Given the description of an element on the screen output the (x, y) to click on. 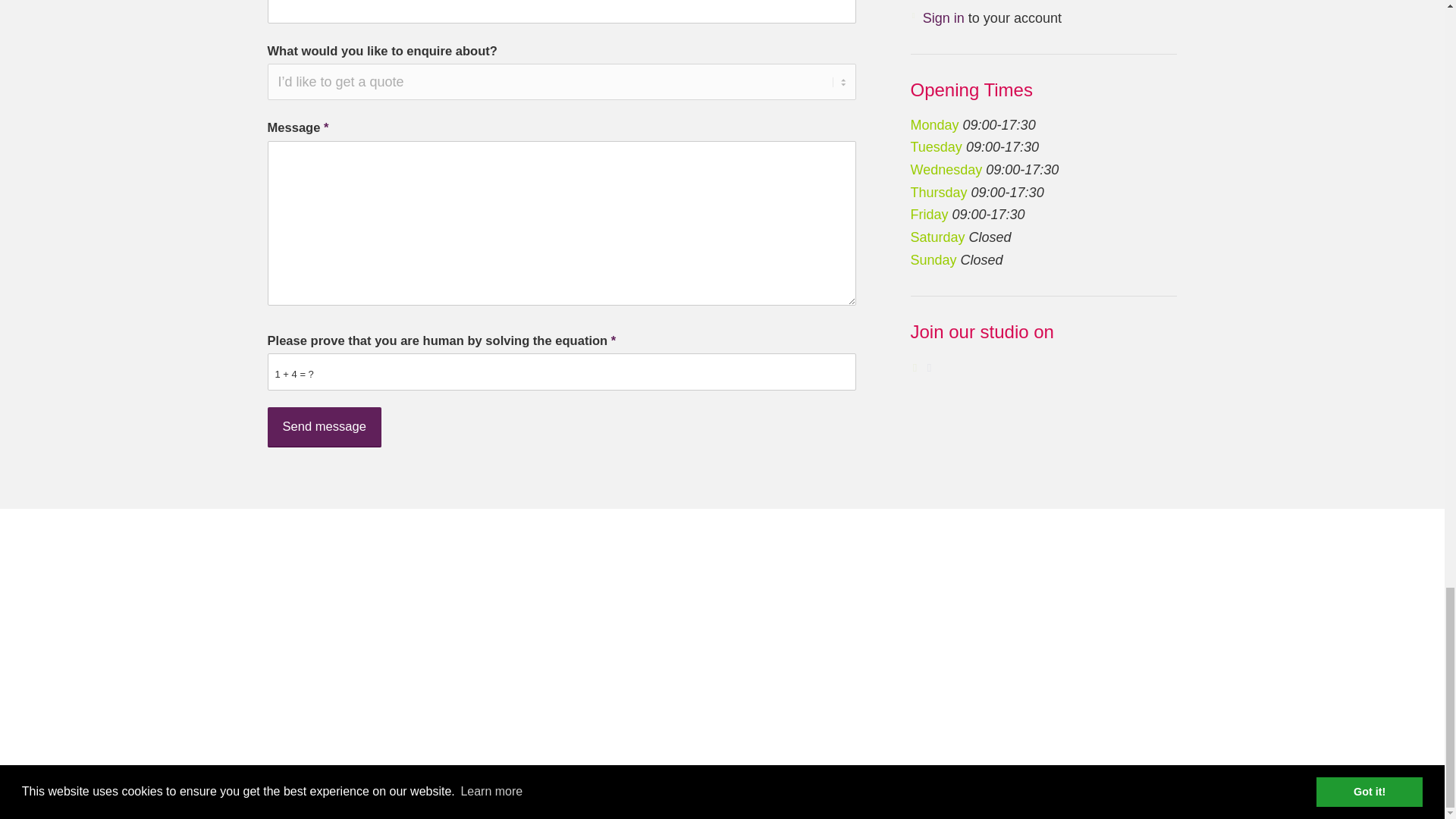
Instagram (1142, 792)
Facebook (1165, 792)
Send message (323, 427)
